Given the description of an element on the screen output the (x, y) to click on. 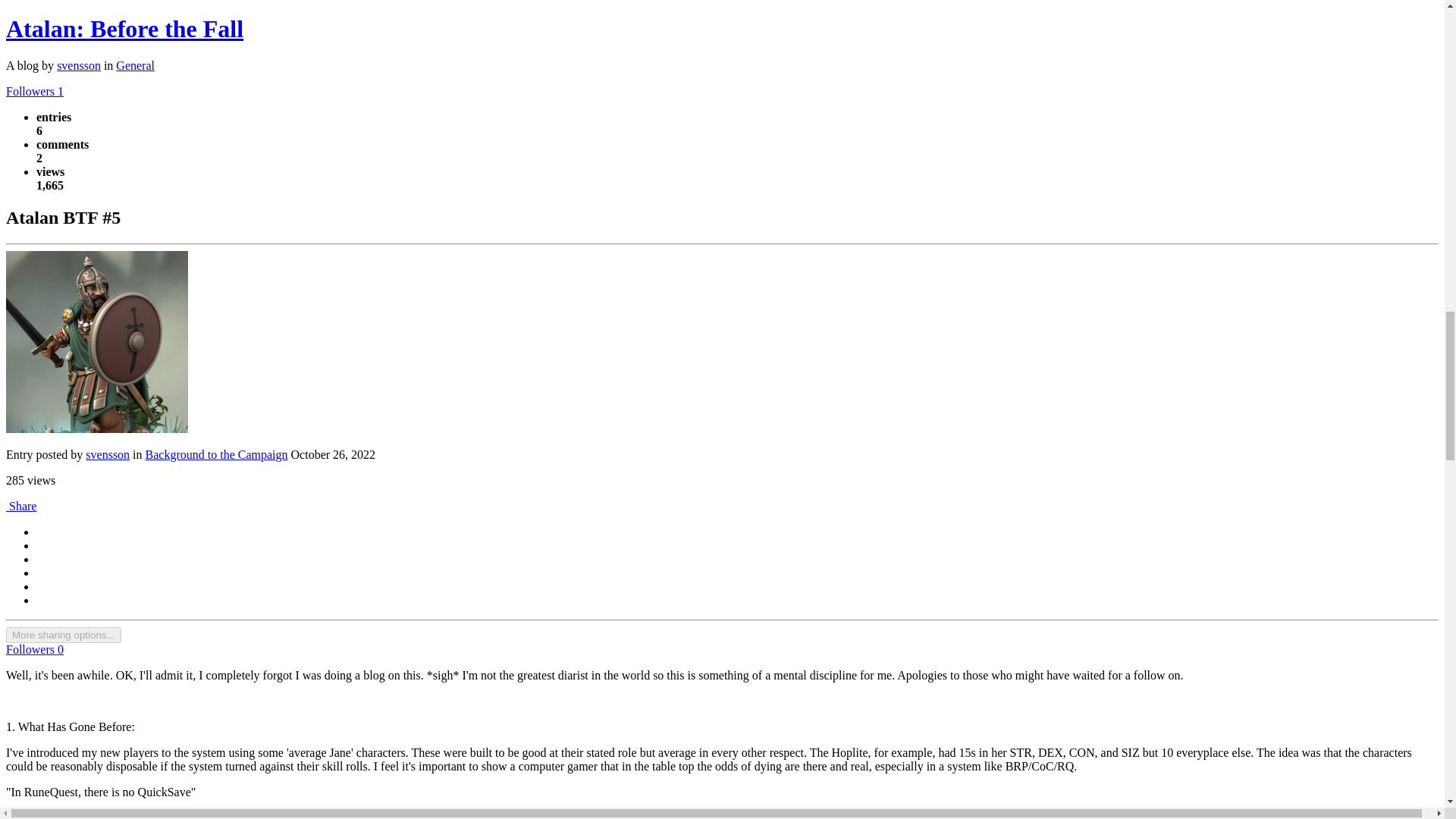
Go to svensson's profile (96, 428)
Followers 1 (34, 91)
Go to the blog Atalan: Before the Fall (124, 28)
Sign in to follow this (34, 649)
Atalan: Before the Fall (124, 28)
Go to svensson's profile (107, 454)
Sign in to follow this (34, 91)
General (135, 65)
Go to svensson's profile (78, 65)
svensson (78, 65)
